Given the description of an element on the screen output the (x, y) to click on. 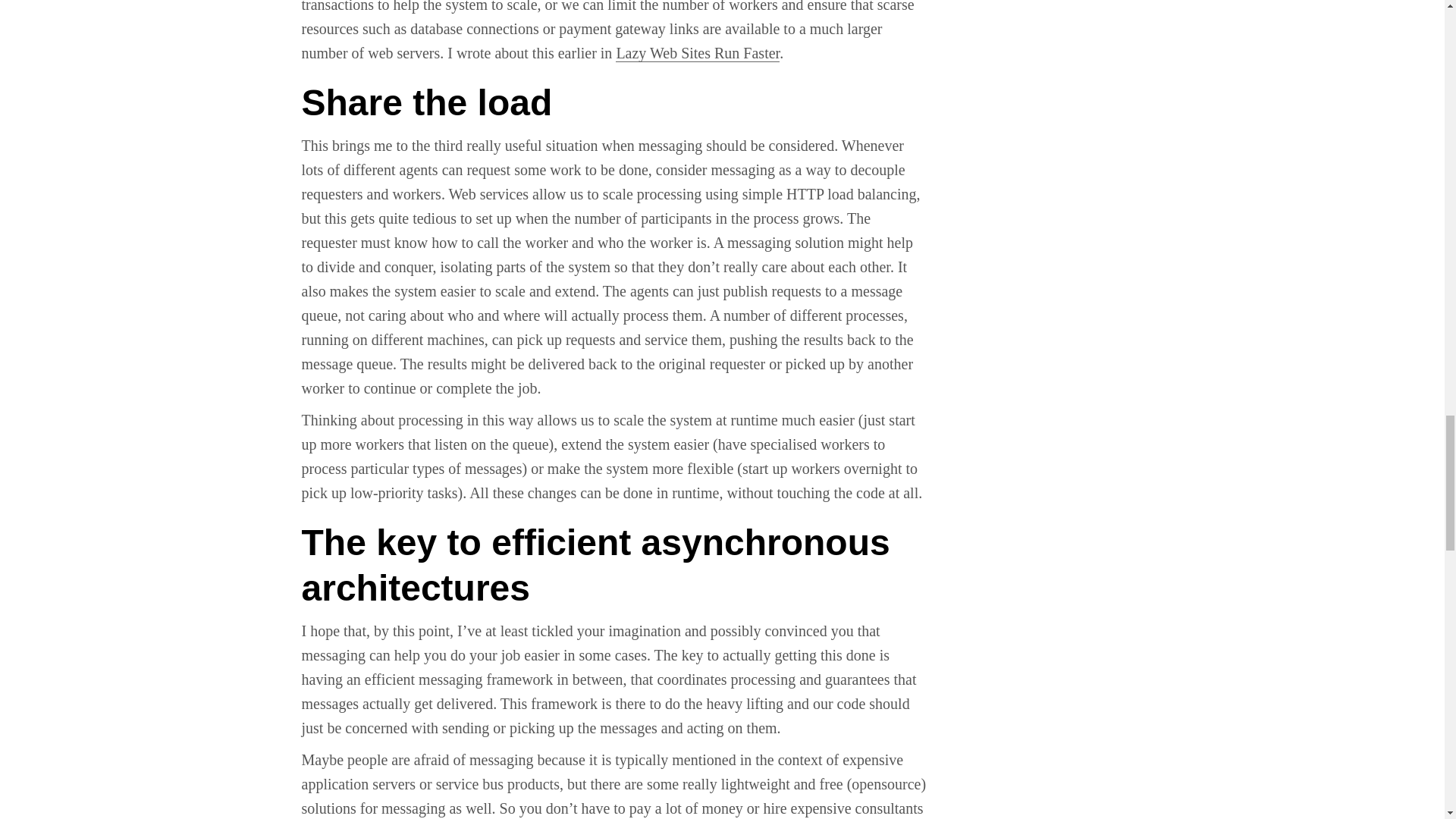
Lazy Web Sites Run Faster (696, 53)
